Given the description of an element on the screen output the (x, y) to click on. 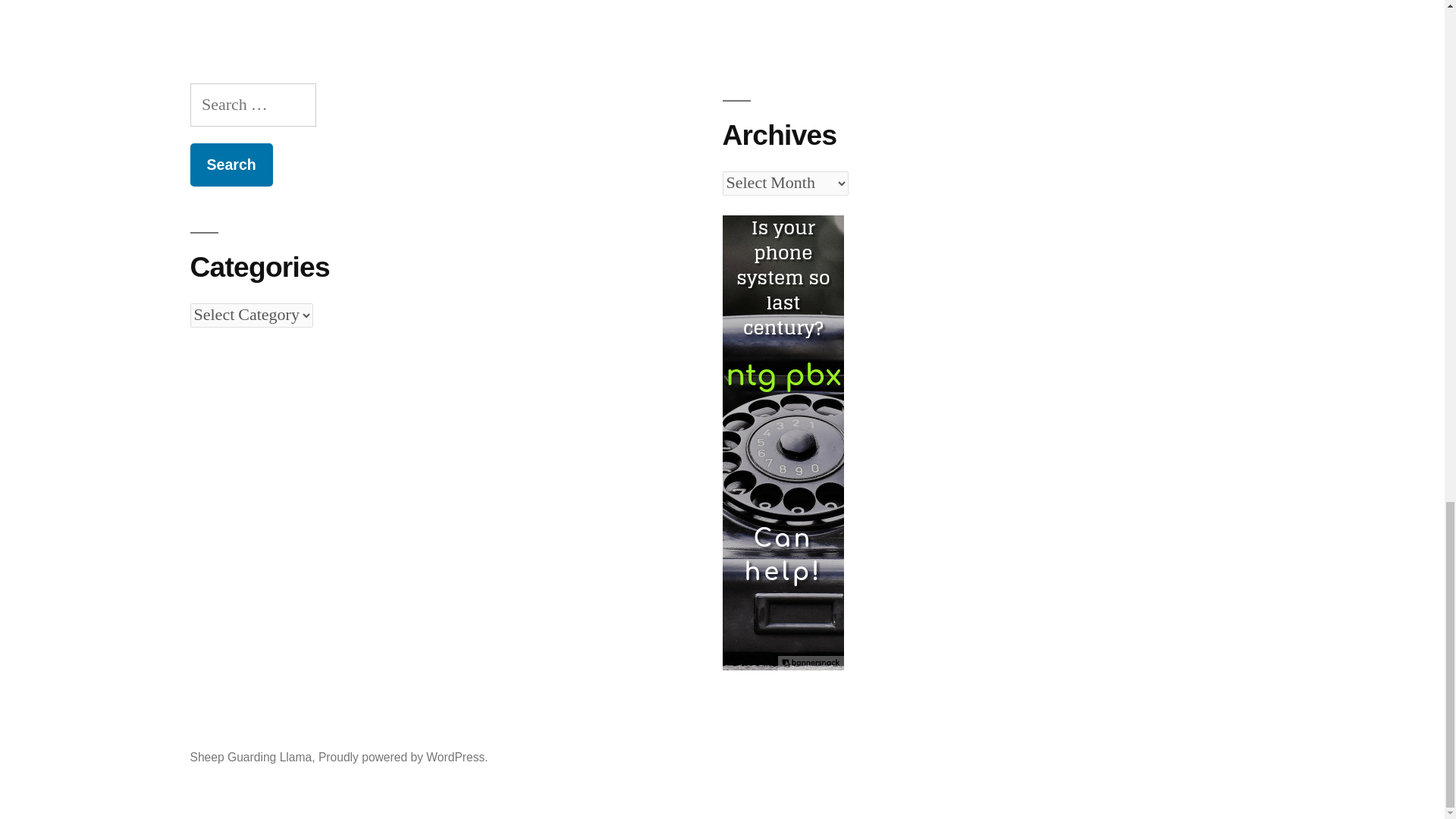
Search (230, 164)
Sheep Guarding Llama (250, 757)
Proudly powered by WordPress. (402, 757)
Search (230, 164)
Search (230, 164)
